Given the description of an element on the screen output the (x, y) to click on. 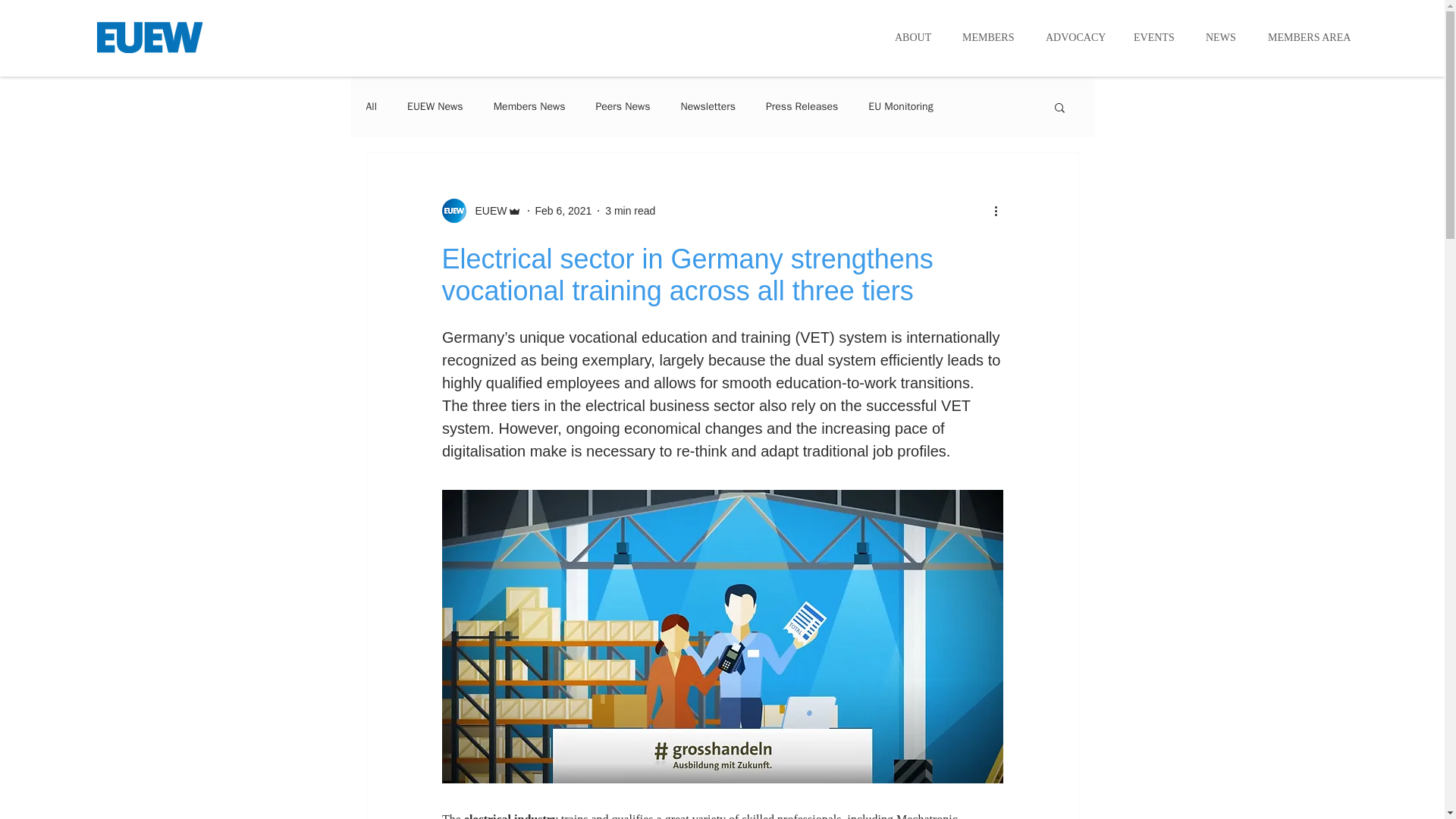
Feb 6, 2021 (563, 210)
3 min read (630, 210)
EUEW (481, 210)
NEWS (1224, 37)
EUEW (485, 211)
EU Monitoring (900, 106)
Newsletters (708, 106)
MEMBERS AREA (1312, 37)
Press Releases (801, 106)
EUEW News (435, 106)
Peers News (622, 106)
Members News (529, 106)
